Given the description of an element on the screen output the (x, y) to click on. 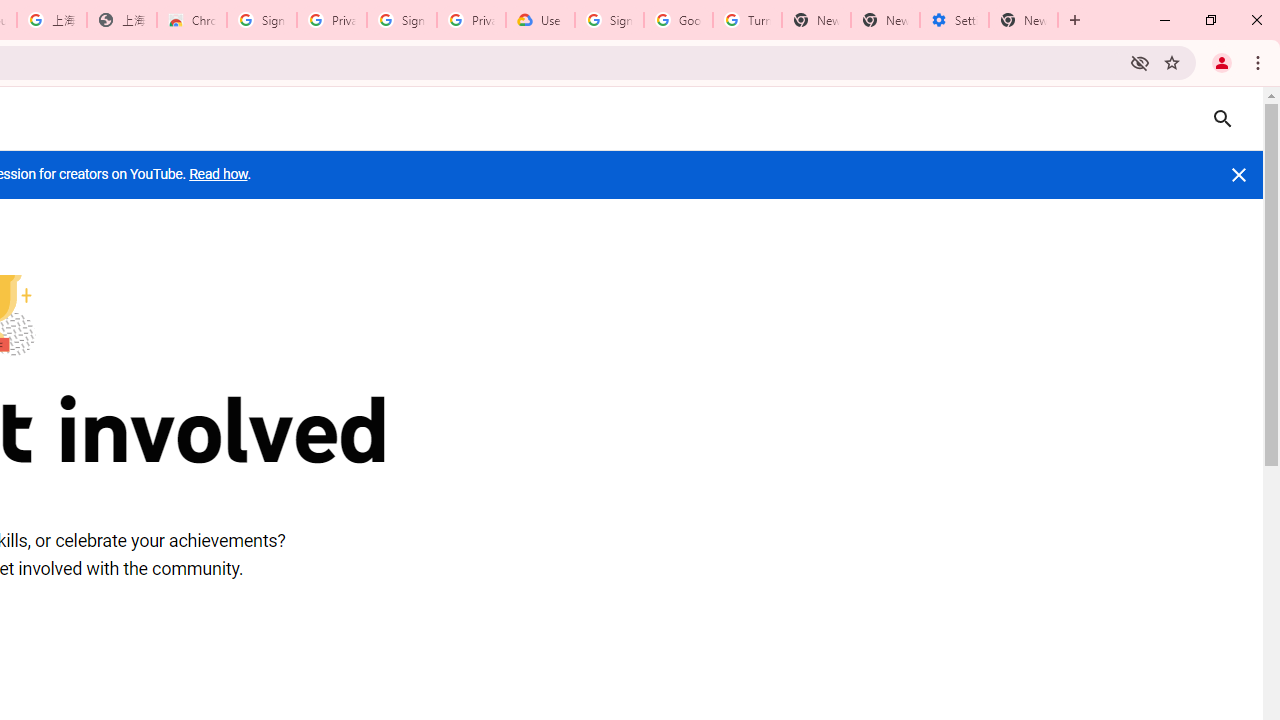
Chrome Web Store - Color themes by Chrome (191, 20)
Google Account Help (677, 20)
